Given the description of an element on the screen output the (x, y) to click on. 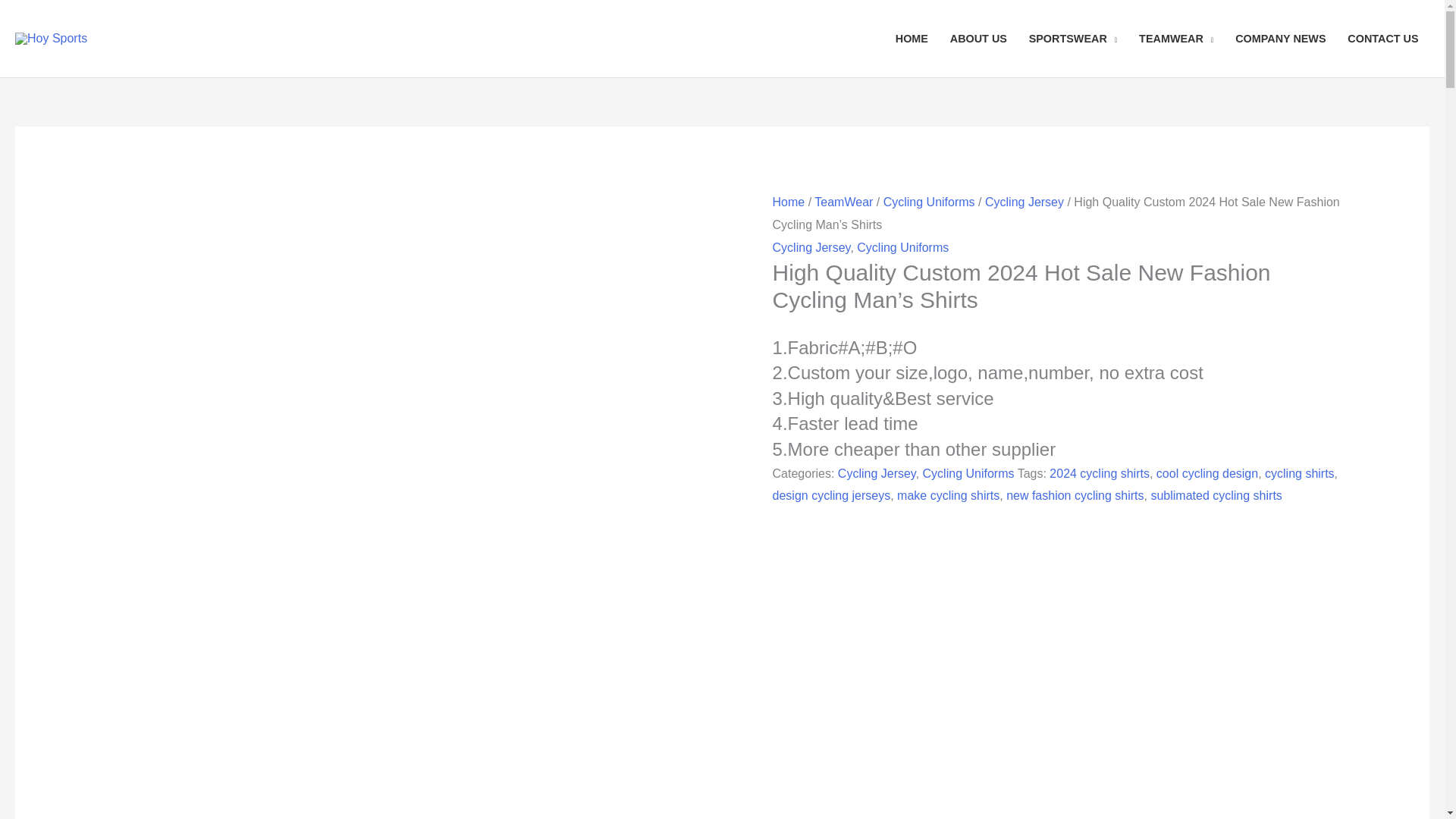
TEAMWEAR (1176, 38)
COMPANY NEWS (1280, 38)
ABOUT US (978, 38)
CONTACT US (1382, 38)
HOME (911, 38)
SPORTSWEAR (1071, 38)
